Given the description of an element on the screen output the (x, y) to click on. 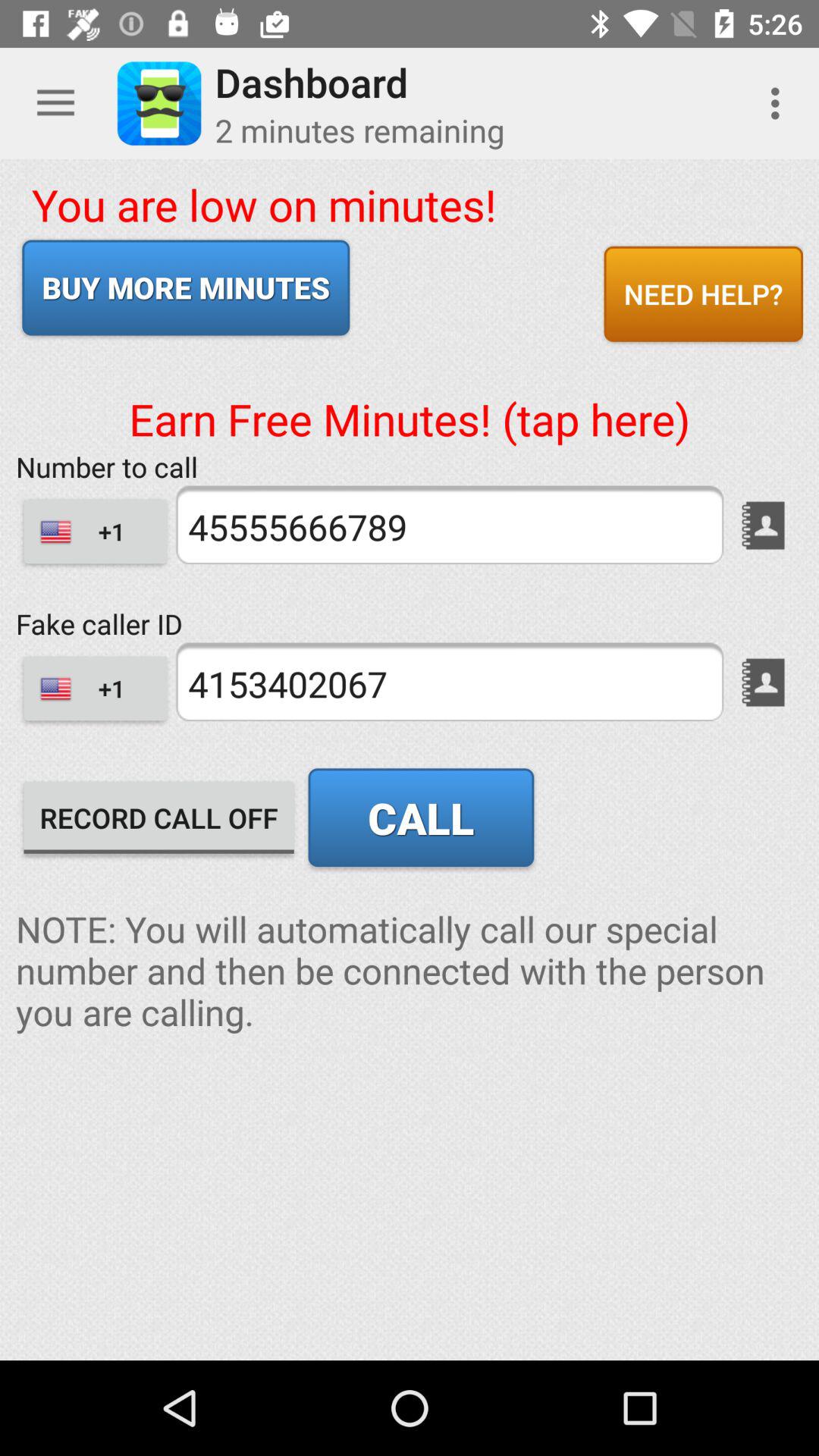
turn on the item below number to call (449, 524)
